Given the description of an element on the screen output the (x, y) to click on. 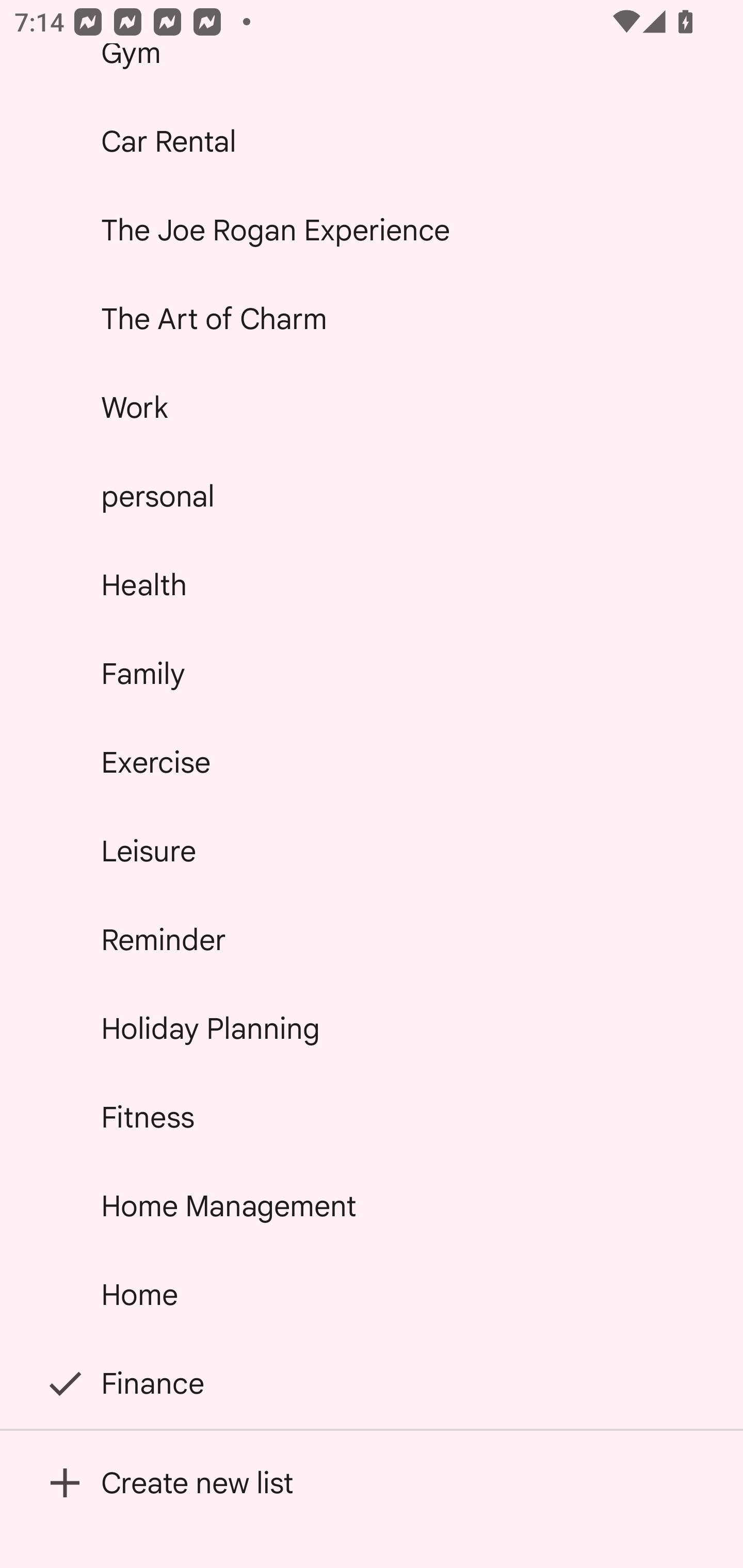
Car Rental (371, 141)
The Joe Rogan Experience (371, 229)
The Art of Charm (371, 318)
Work (371, 407)
personal (371, 496)
Health (371, 584)
Family (371, 673)
Exercise (371, 762)
Leisure (371, 850)
Reminder (371, 939)
Holiday Planning (371, 1028)
Fitness (371, 1117)
Home Management (371, 1205)
Home (371, 1294)
Finance (371, 1383)
Create new list (371, 1482)
